Given the description of an element on the screen output the (x, y) to click on. 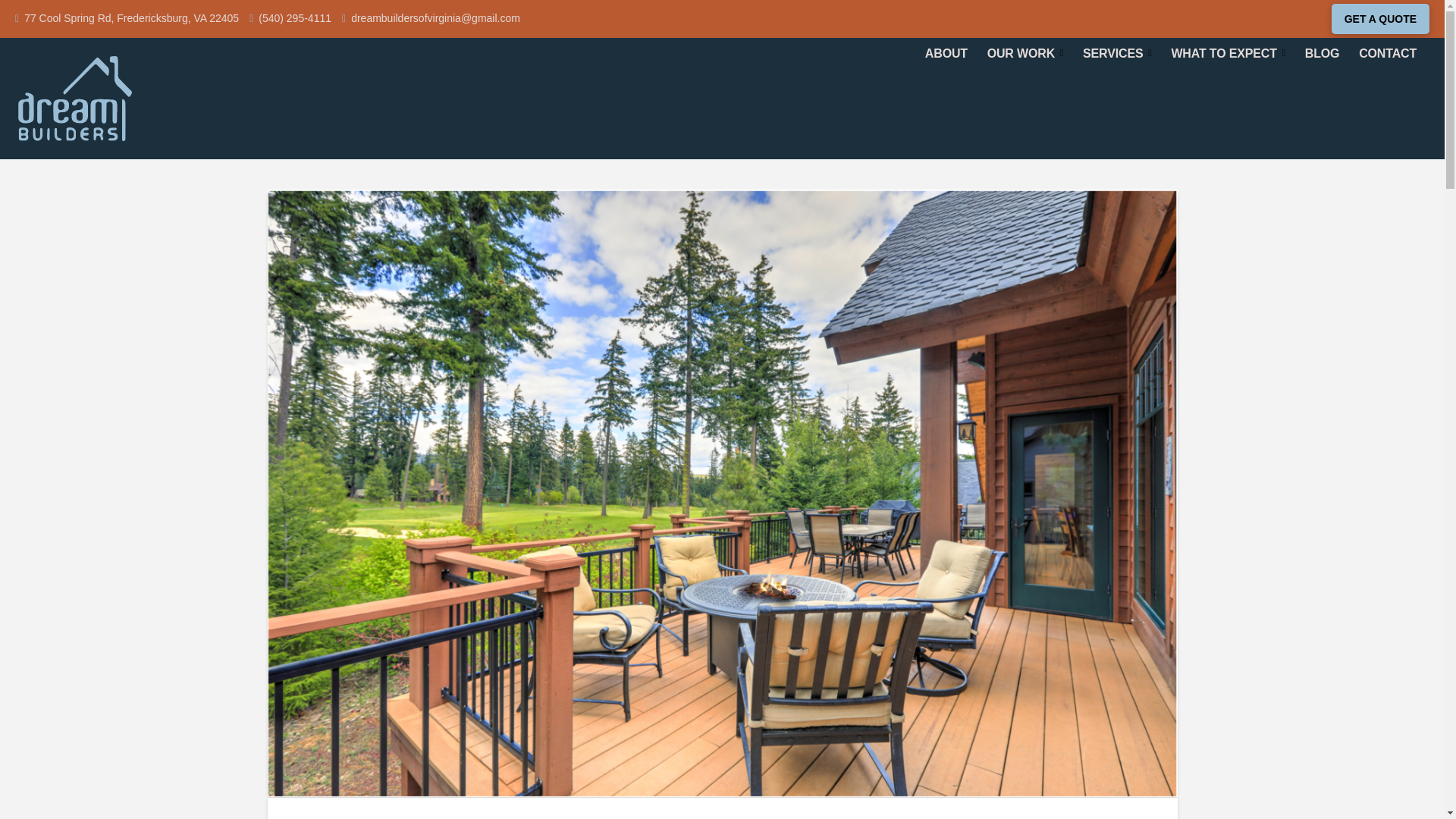
GET A QUOTE (1380, 19)
ABOUT (945, 53)
OUR WORK (1024, 53)
SERVICES (1116, 53)
BLOG (1322, 53)
CONTACT (1387, 53)
WHAT TO EXPECT (1228, 53)
